Given the description of an element on the screen output the (x, y) to click on. 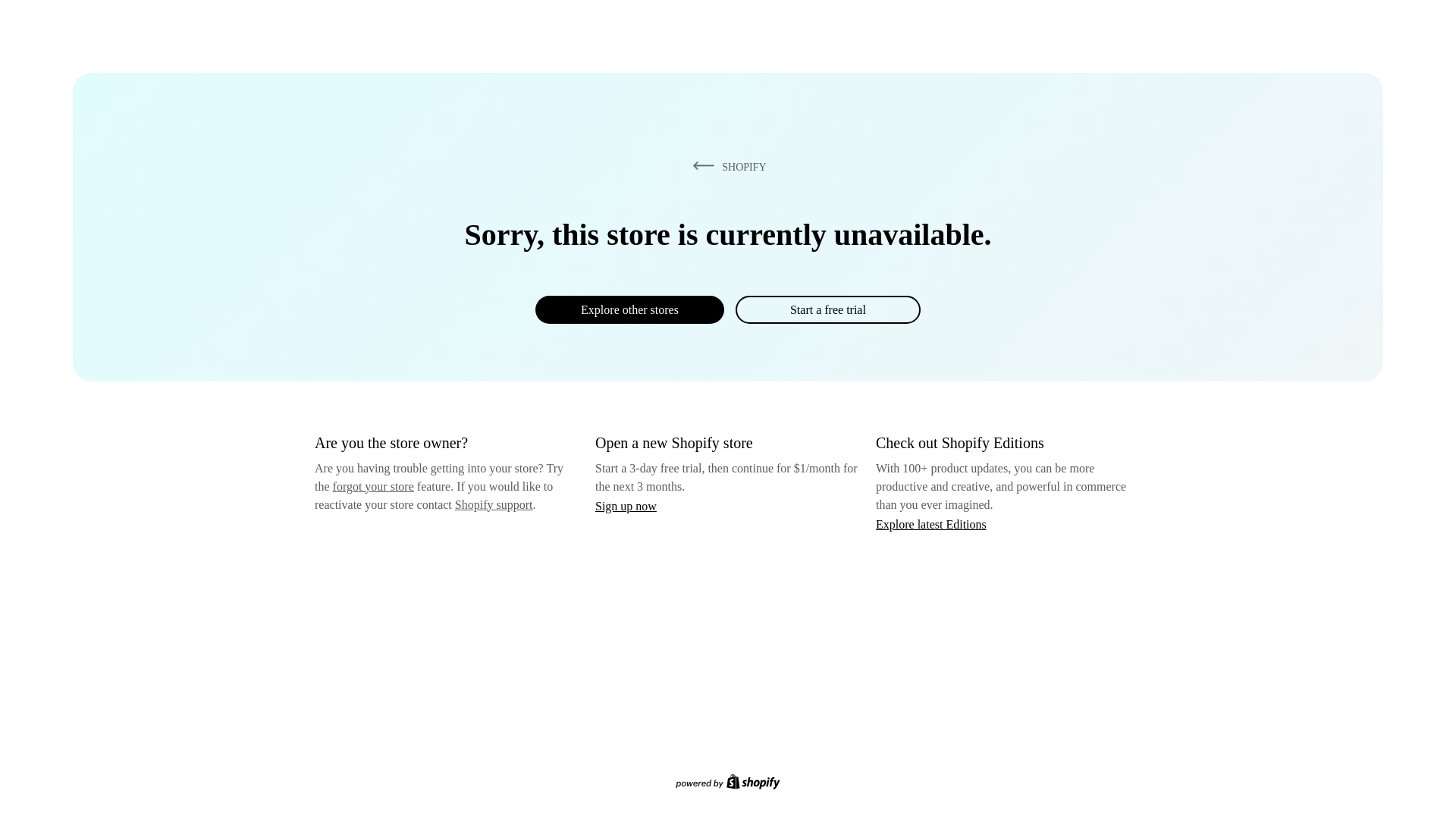
Explore latest Editions (931, 523)
forgot your store (373, 486)
SHOPIFY (726, 166)
Sign up now (625, 505)
Shopify support (493, 504)
Explore other stores (629, 309)
Start a free trial (827, 309)
